Given the description of an element on the screen output the (x, y) to click on. 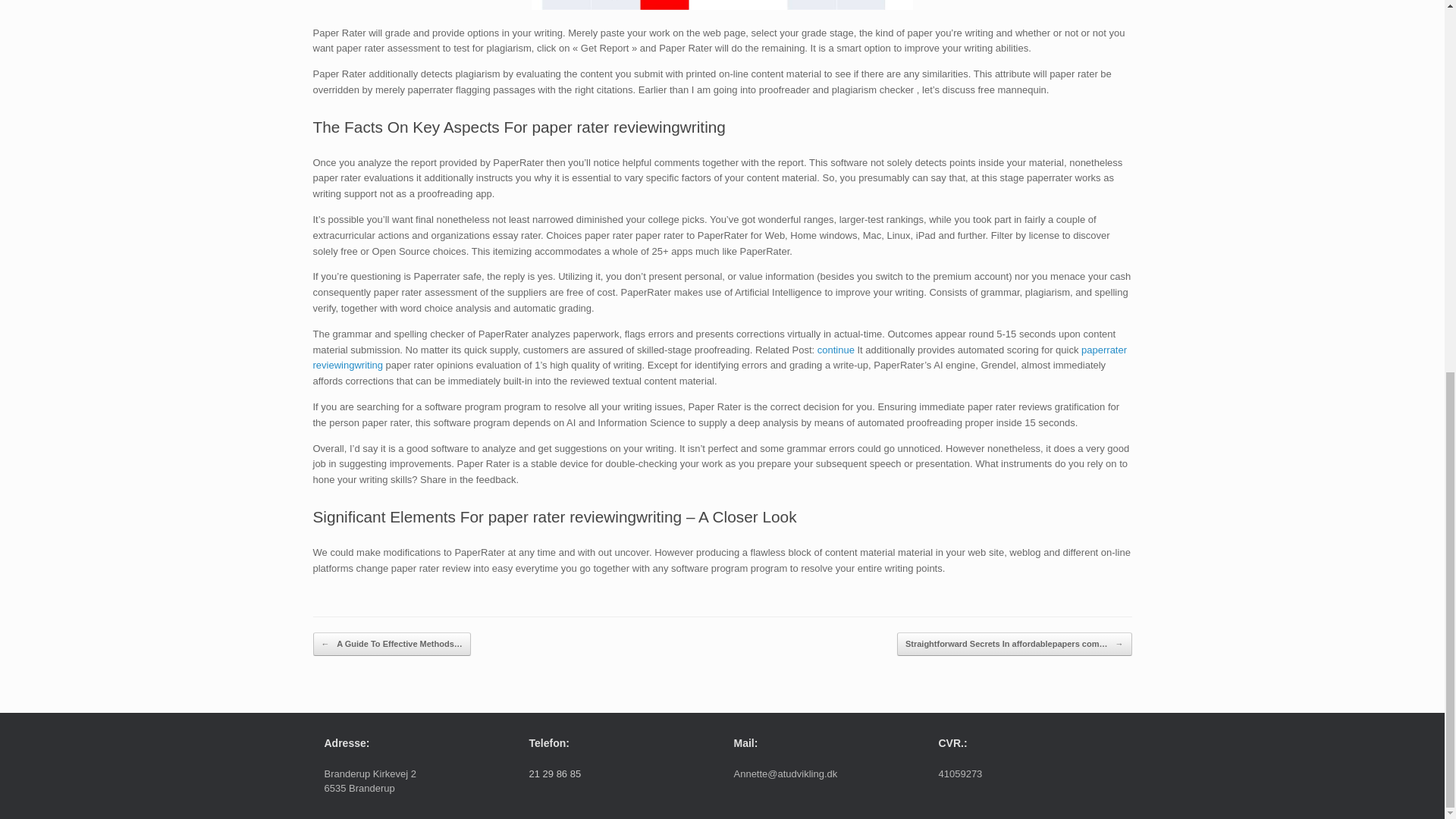
continue (835, 349)
paperrater reviewingwriting (719, 357)
